Given the description of an element on the screen output the (x, y) to click on. 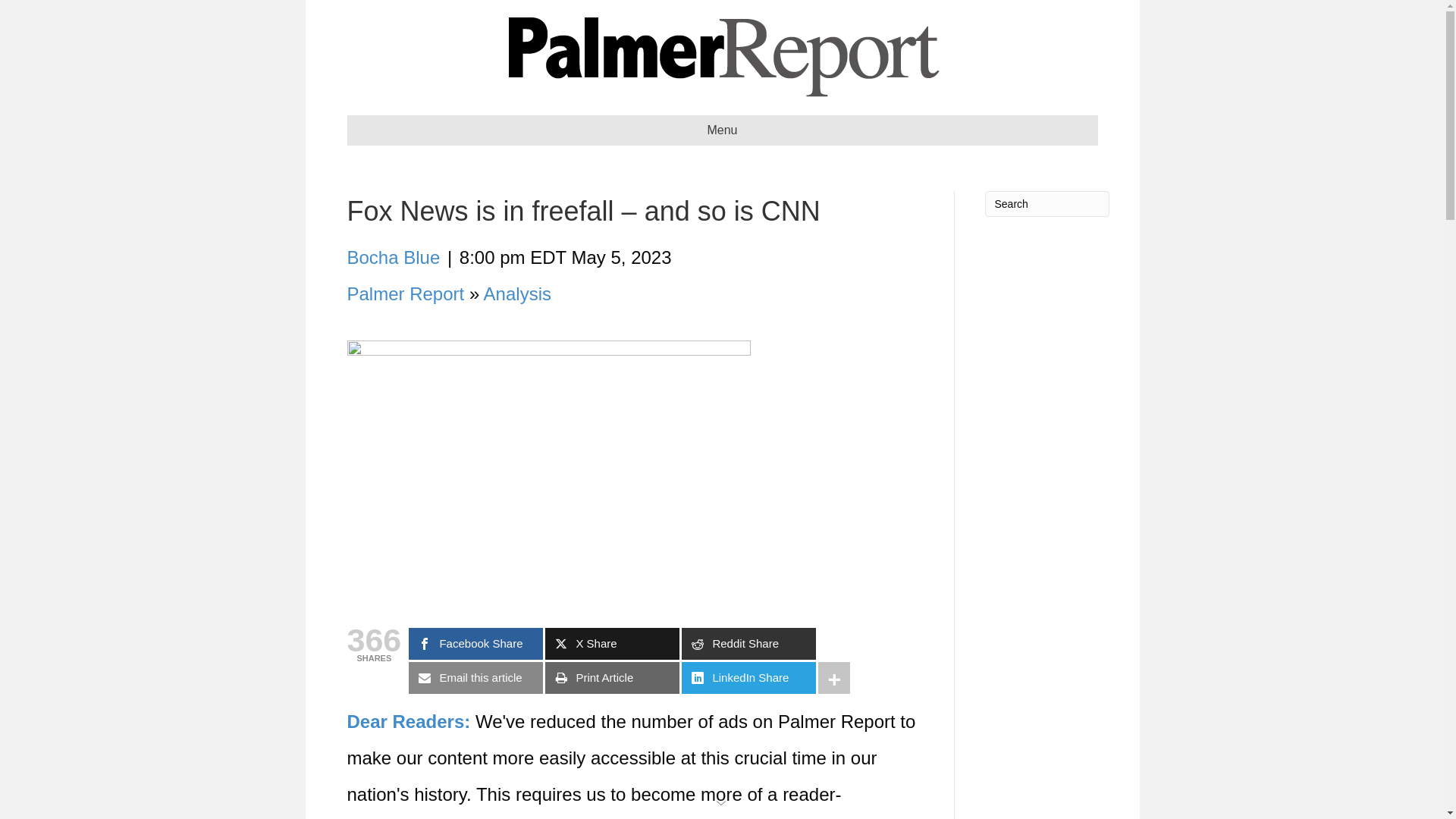
Email this article (476, 677)
LinkedIn Share (748, 677)
Palmer Report (405, 293)
Analysis (517, 293)
Ad.Plus Advertising (722, 801)
Search (1046, 203)
Type and press Enter to search. (1046, 203)
Bocha Blue (394, 257)
Dear Readers: (408, 721)
Facebook Share (476, 644)
Reddit Share (748, 644)
Print Article (611, 677)
Posts by Bocha Blue (394, 257)
Search (1046, 203)
Menu (722, 130)
